Given the description of an element on the screen output the (x, y) to click on. 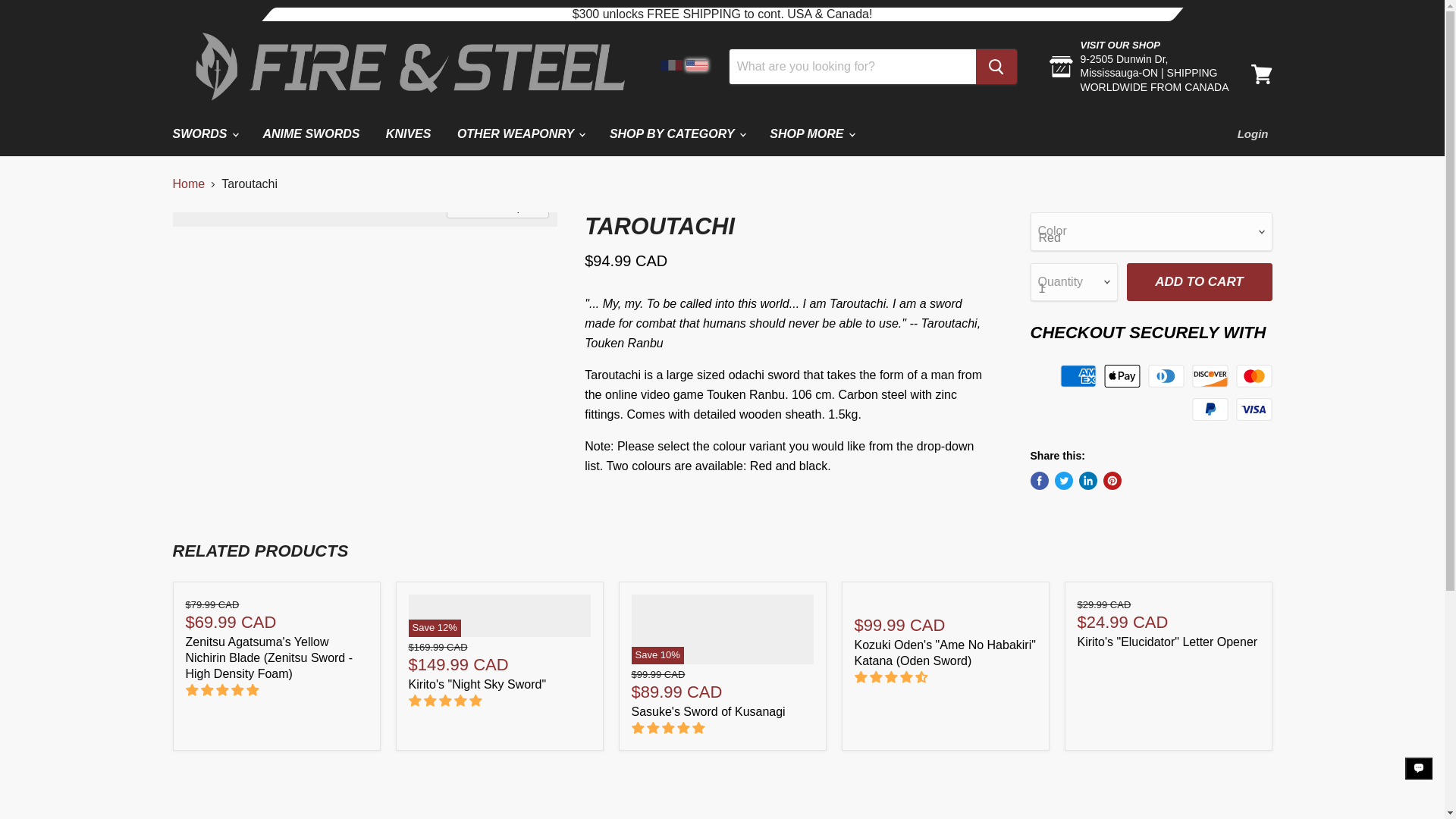
SWORDS (203, 133)
Apple Pay (1121, 375)
Mastercard (1254, 375)
KNIVES (408, 133)
Discover (1210, 375)
Diners Club (1166, 375)
American Express (1077, 375)
SHOP BY CATEGORY (676, 133)
Visa (1254, 409)
OTHER WEAPONRY (520, 133)
